Given the description of an element on the screen output the (x, y) to click on. 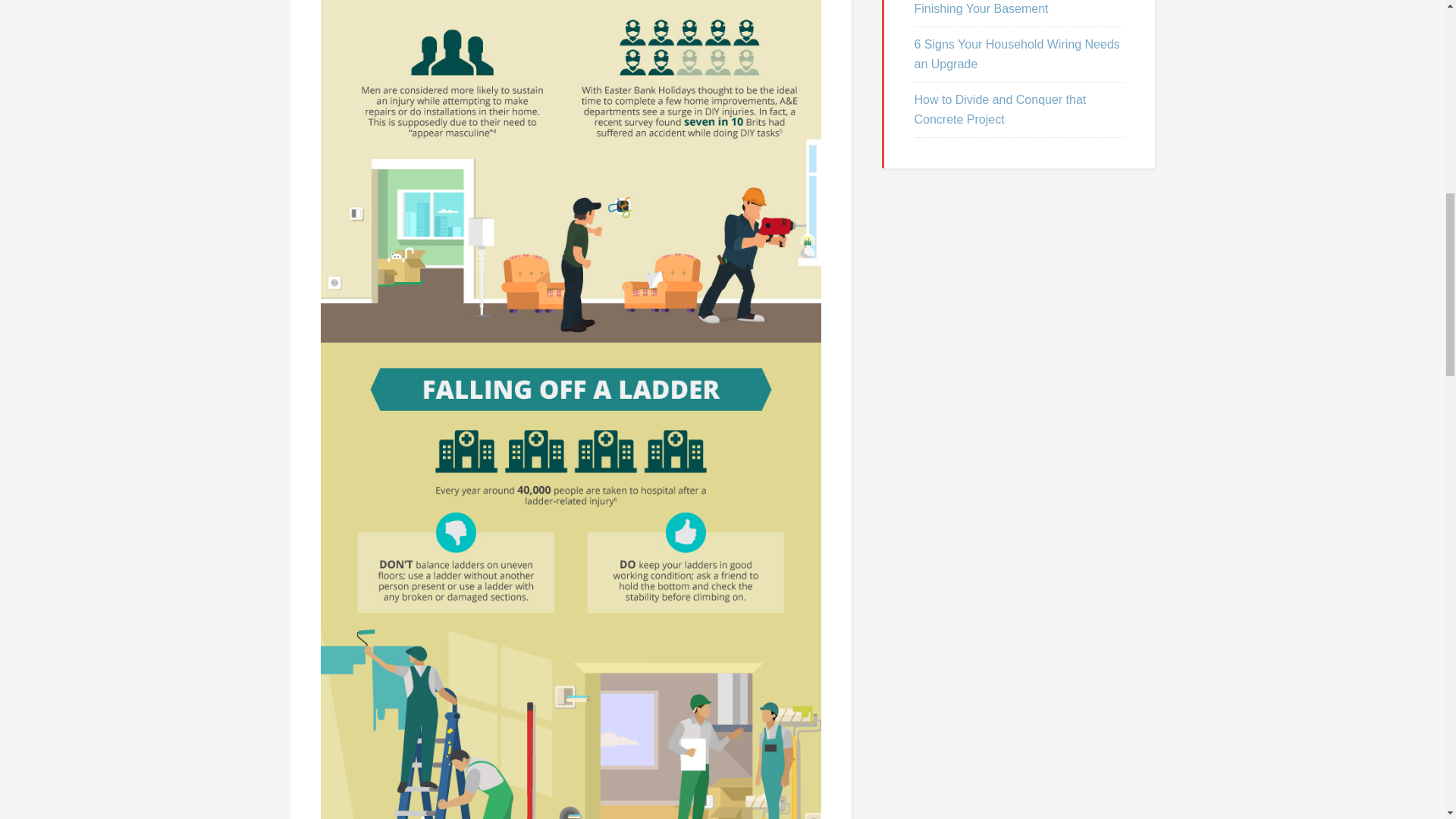
How to Divide and Conquer that Concrete Project (1000, 109)
6 Signs Your Household Wiring Needs an Upgrade (1016, 53)
